Given the description of an element on the screen output the (x, y) to click on. 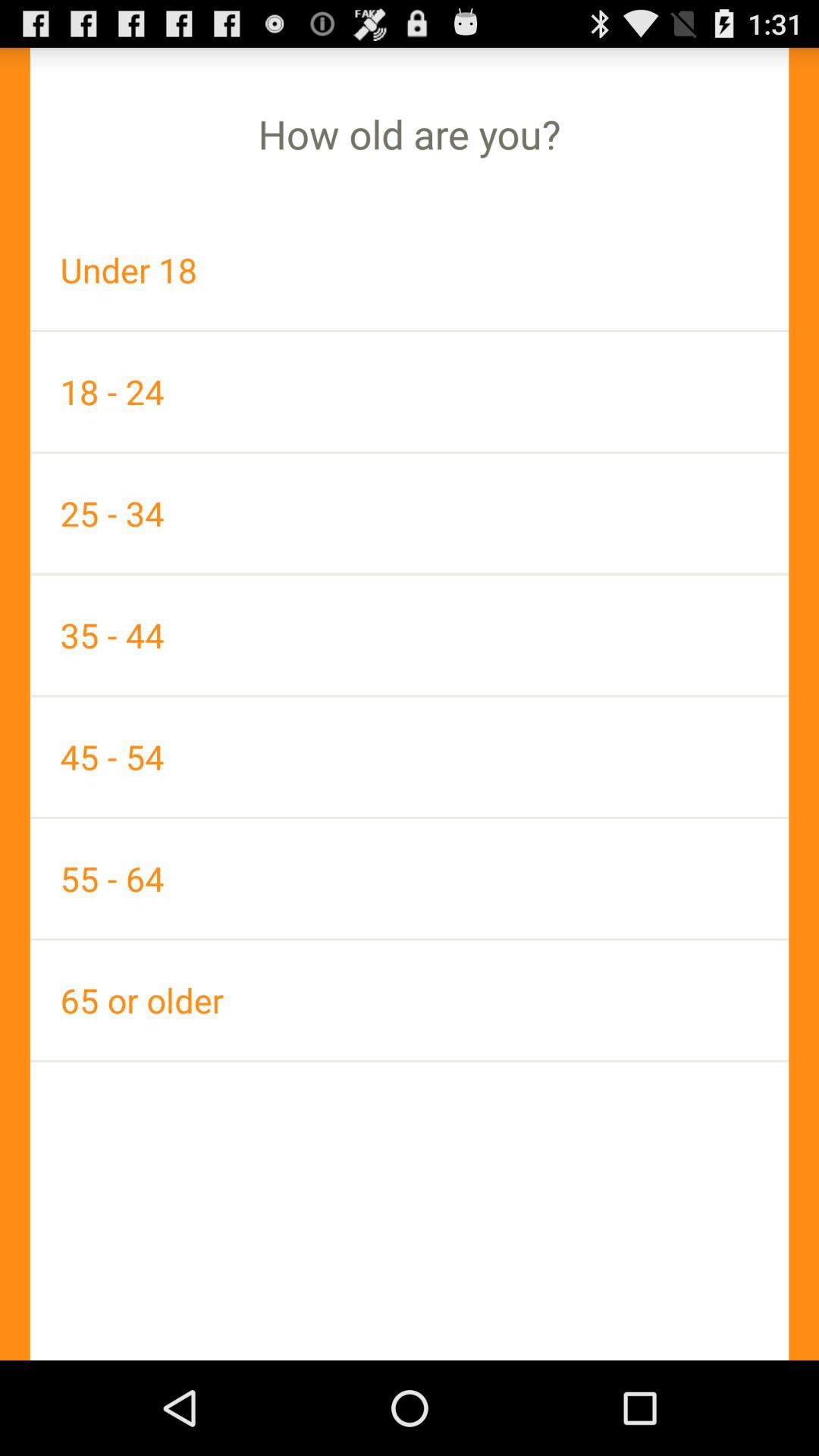
click the icon above the 25 - 34 item (409, 391)
